Given the description of an element on the screen output the (x, y) to click on. 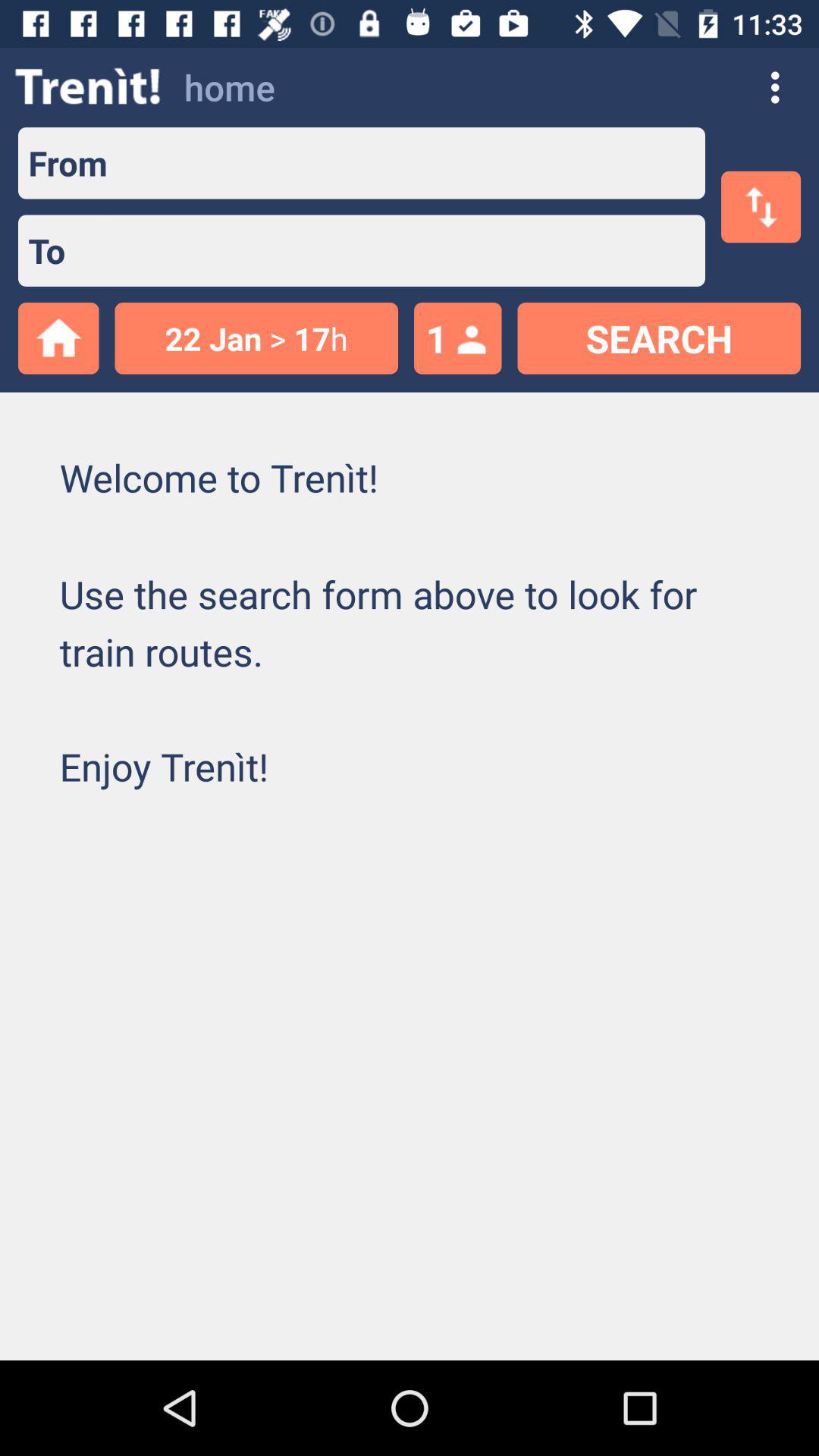
location traveling from (406, 163)
